Given the description of an element on the screen output the (x, y) to click on. 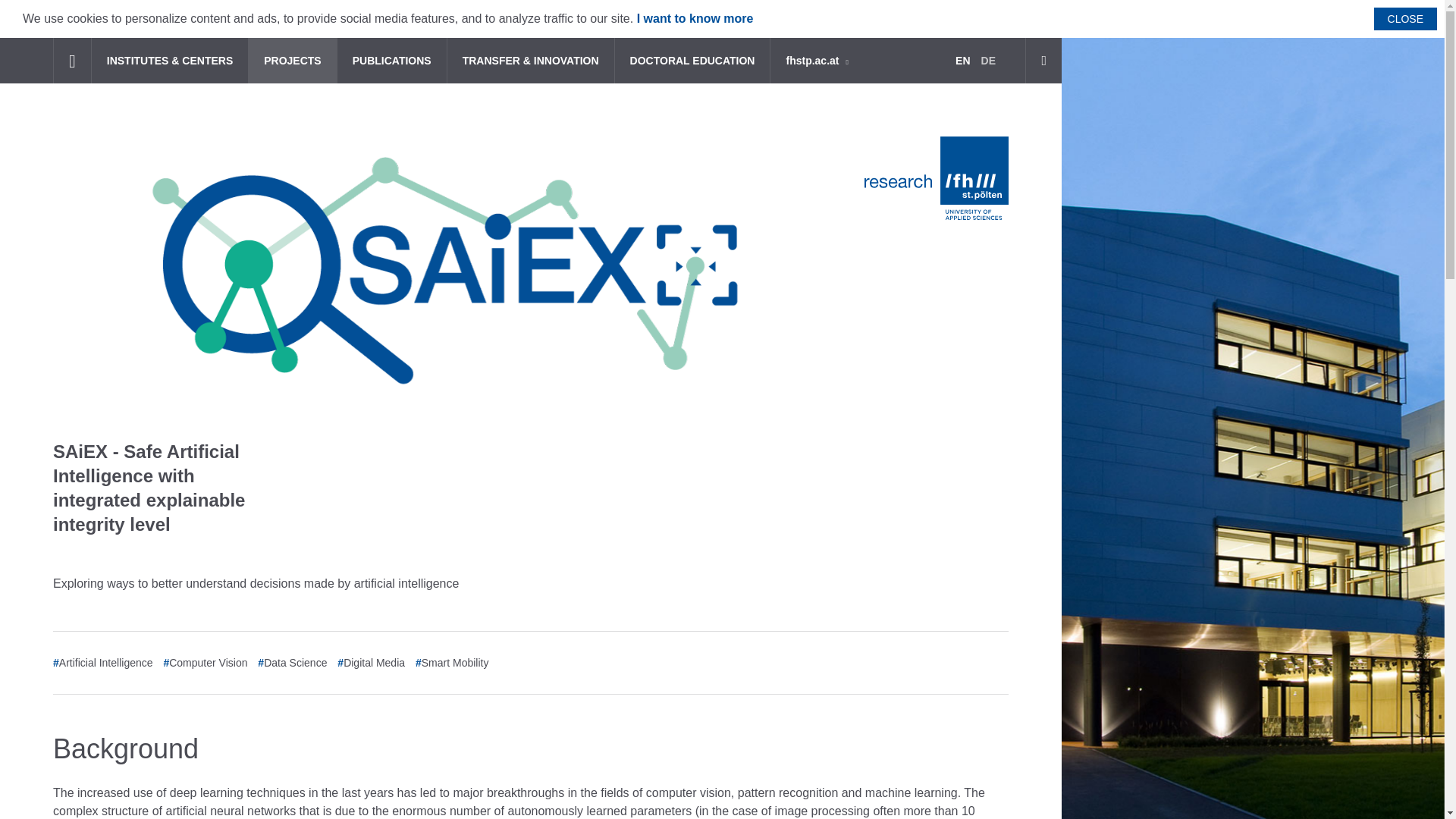
Smart Mobility (455, 662)
CLOSE (1405, 18)
Digital Media (373, 662)
PROJECTS (291, 60)
Computer Vision (207, 662)
fhstp.ac.at (816, 60)
I want to know more (695, 18)
Data Science (294, 662)
Artificial Intelligence (105, 662)
DOCTORAL EDUCATION (692, 60)
DE (988, 60)
PUBLICATIONS (391, 60)
EN (962, 60)
